Given the description of an element on the screen output the (x, y) to click on. 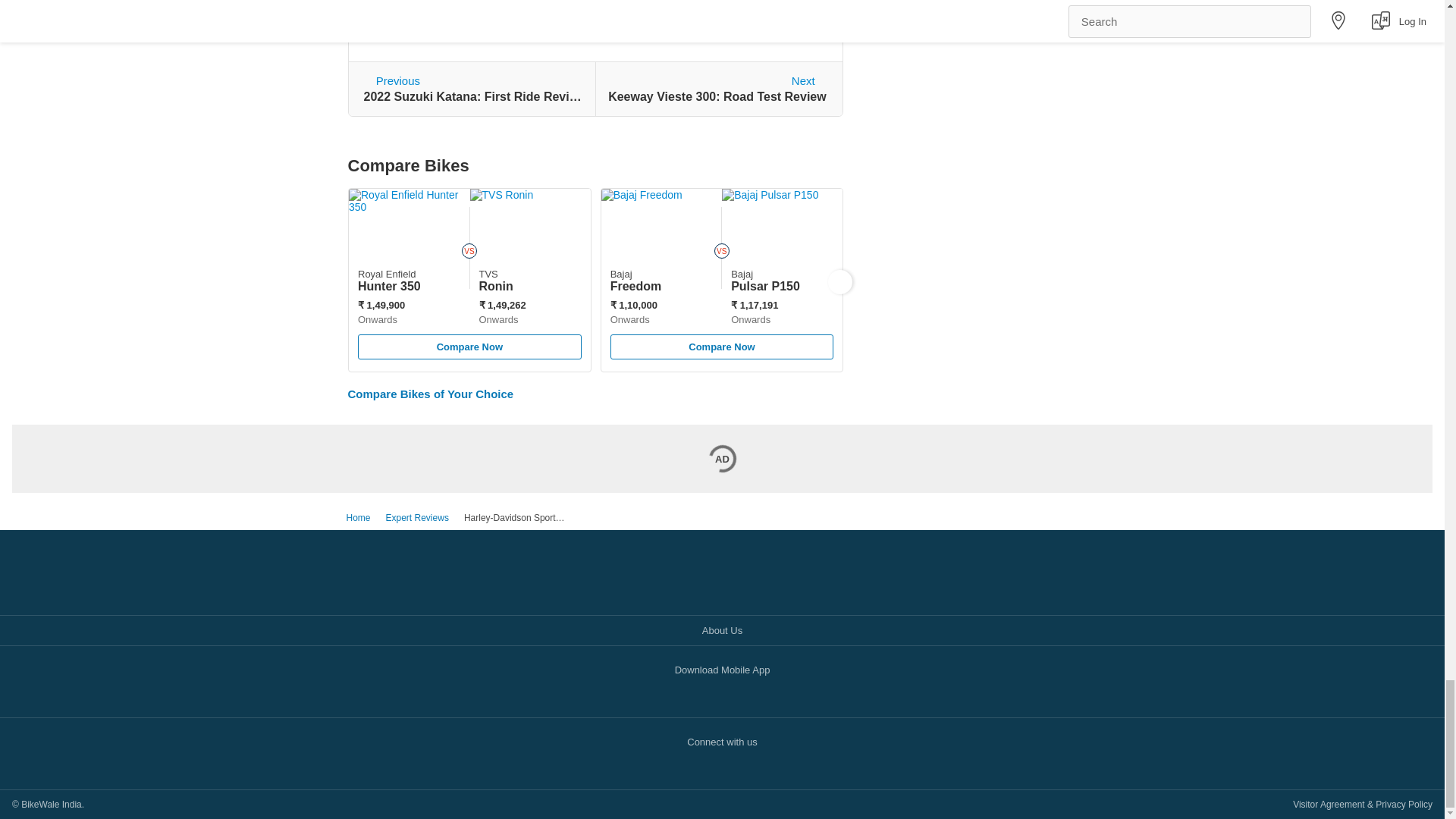
Compare Now (470, 352)
Compare Now (721, 352)
Compare Now (469, 346)
Compare Now (717, 89)
